Given the description of an element on the screen output the (x, y) to click on. 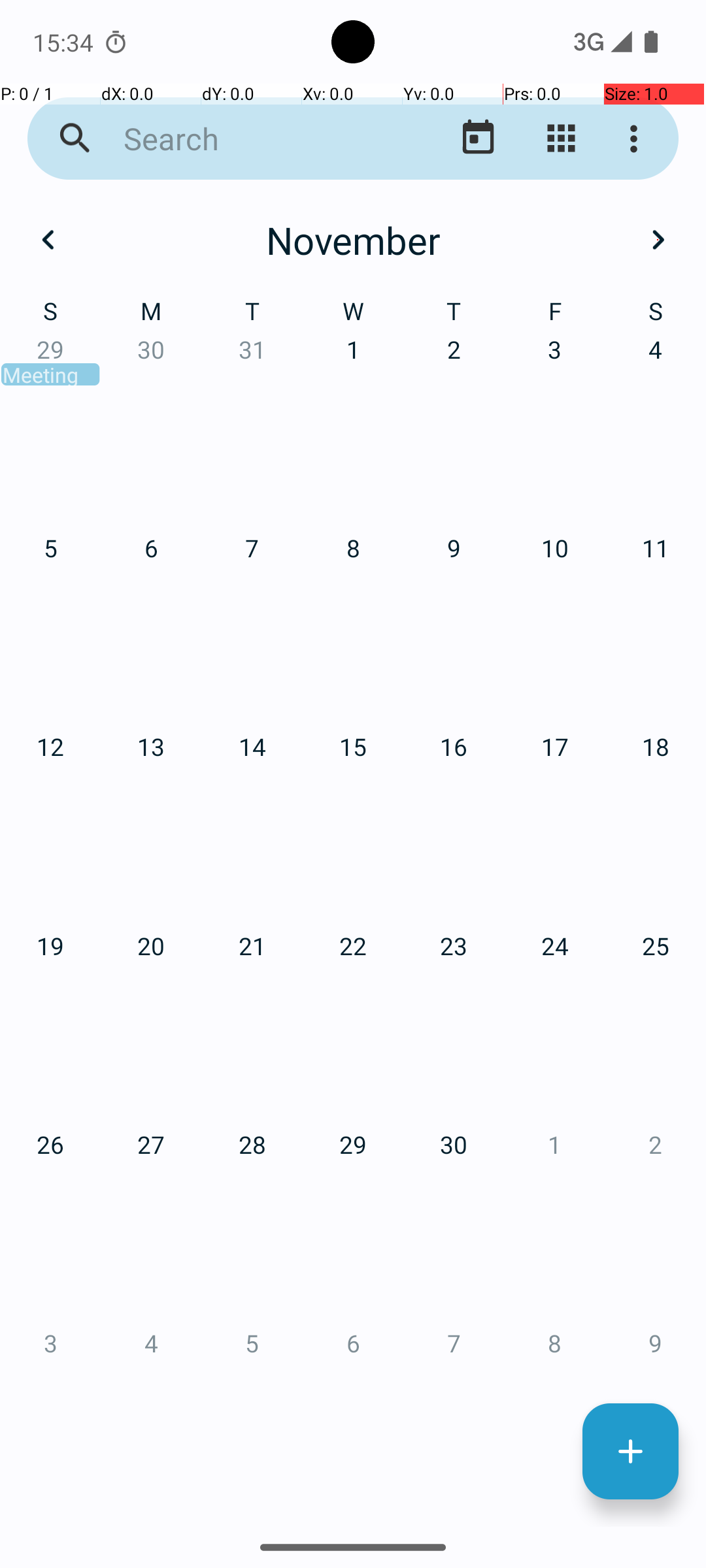
November Element type: android.widget.TextView (352, 239)
